Given the description of an element on the screen output the (x, y) to click on. 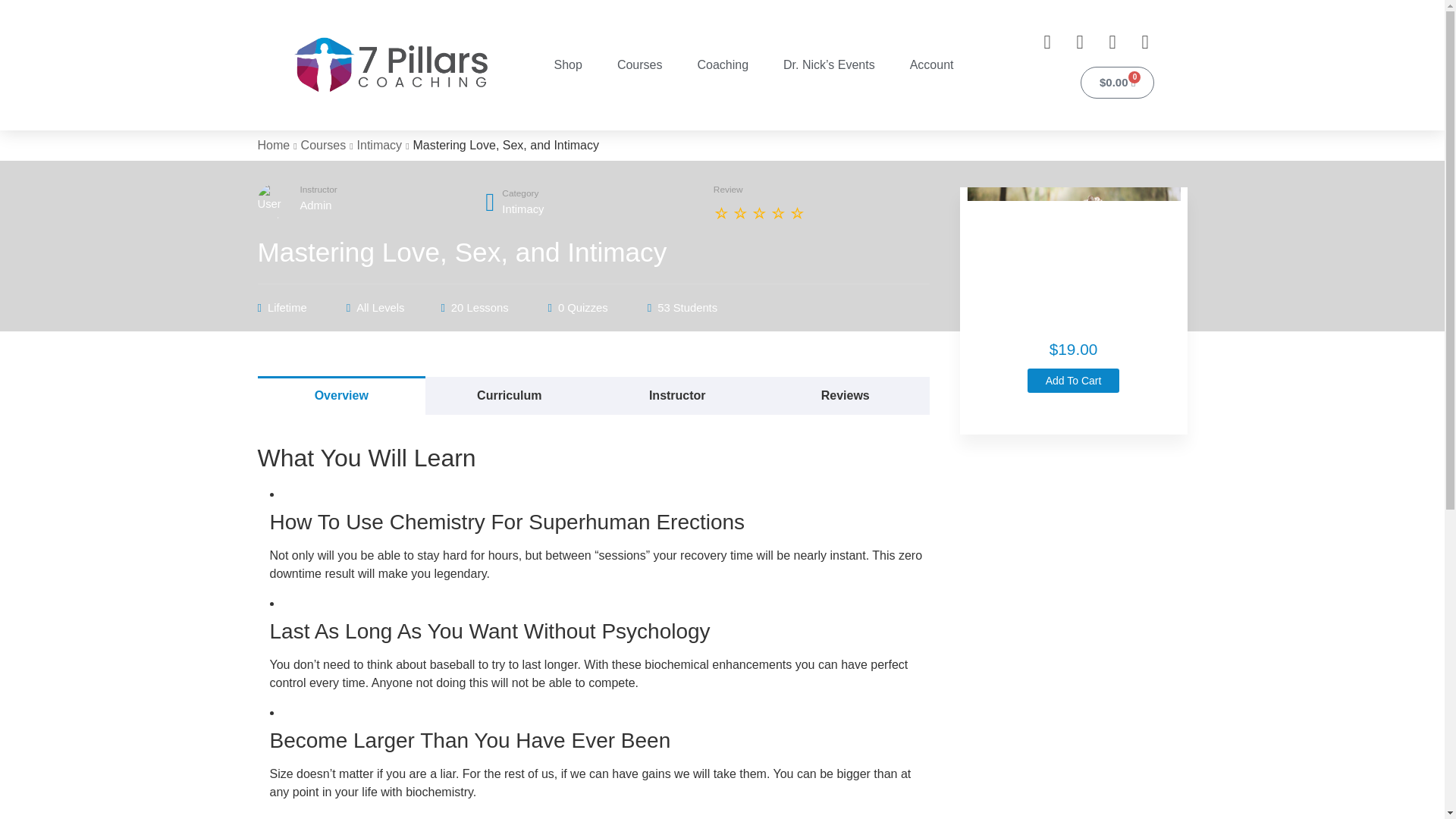
Account (932, 64)
Add To Cart (1073, 380)
0 out of 5 stars (760, 214)
Courses (640, 64)
Intimacy (522, 209)
Admin (316, 205)
Coaching (721, 64)
Mastering Love, Sex, and Intimacy (1073, 258)
Intimacy (379, 144)
Courses (323, 144)
